Given the description of an element on the screen output the (x, y) to click on. 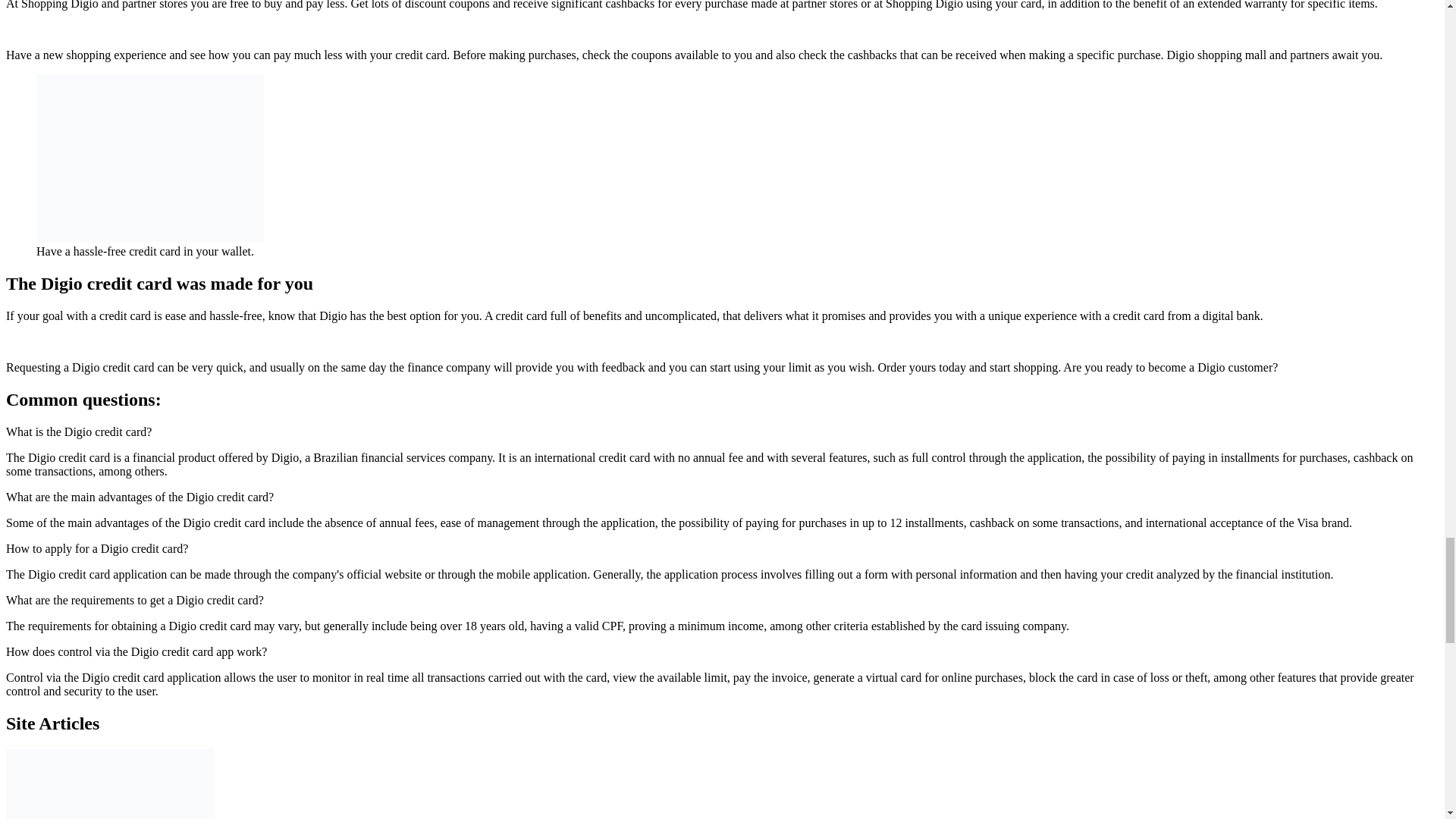
What are the main advantages of the Digio credit card? (139, 496)
How does control via the Digio credit card app work? (135, 651)
What is the Digio credit card? (78, 431)
What are the requirements to get a Digio credit card? (134, 599)
How to apply for a Digio credit card? (96, 548)
